Given the description of an element on the screen output the (x, y) to click on. 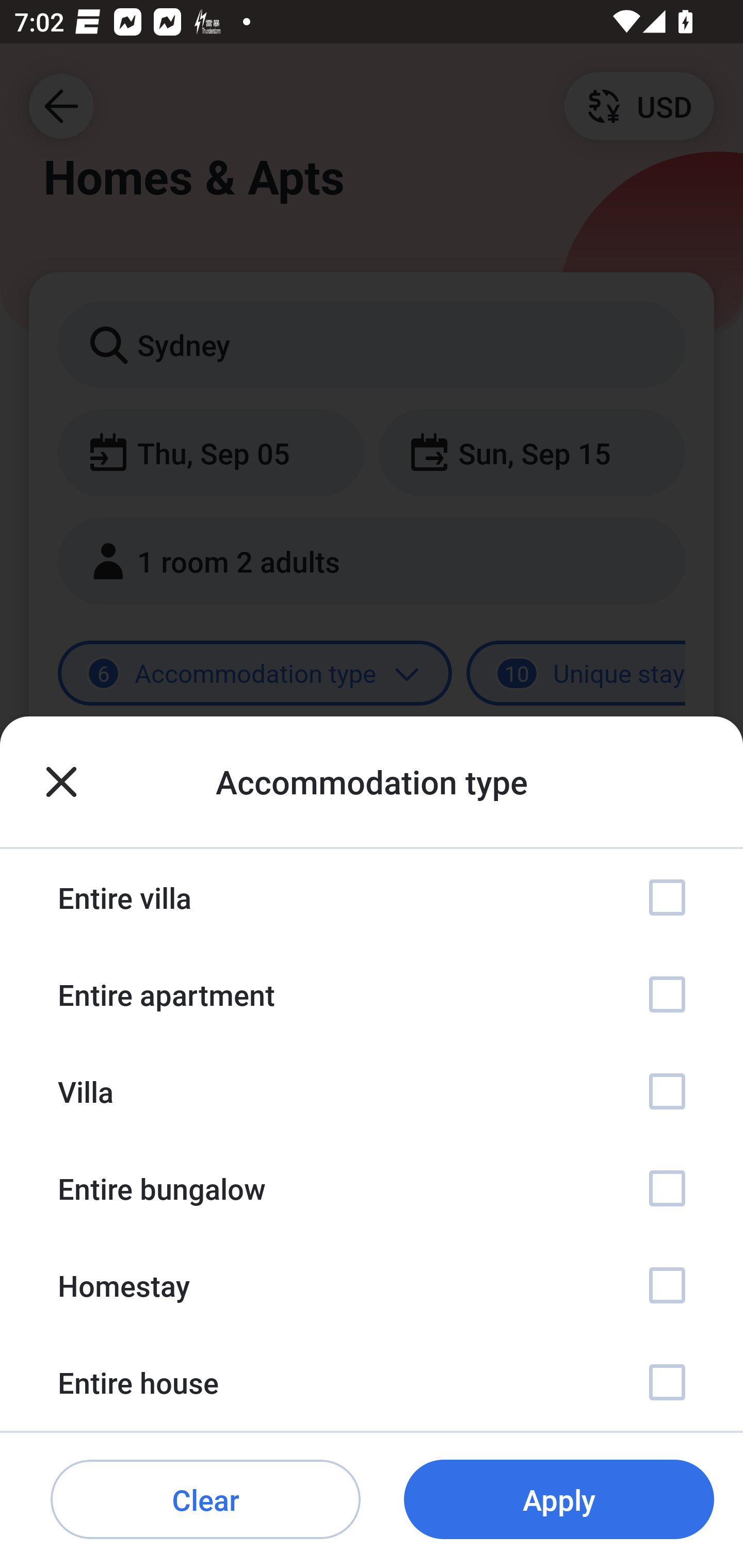
Entire villa (371, 897)
Entire apartment (371, 994)
Villa (371, 1091)
Entire bungalow (371, 1188)
Homestay (371, 1284)
Entire house (371, 1382)
Clear (205, 1499)
Apply (559, 1499)
